Given the description of an element on the screen output the (x, y) to click on. 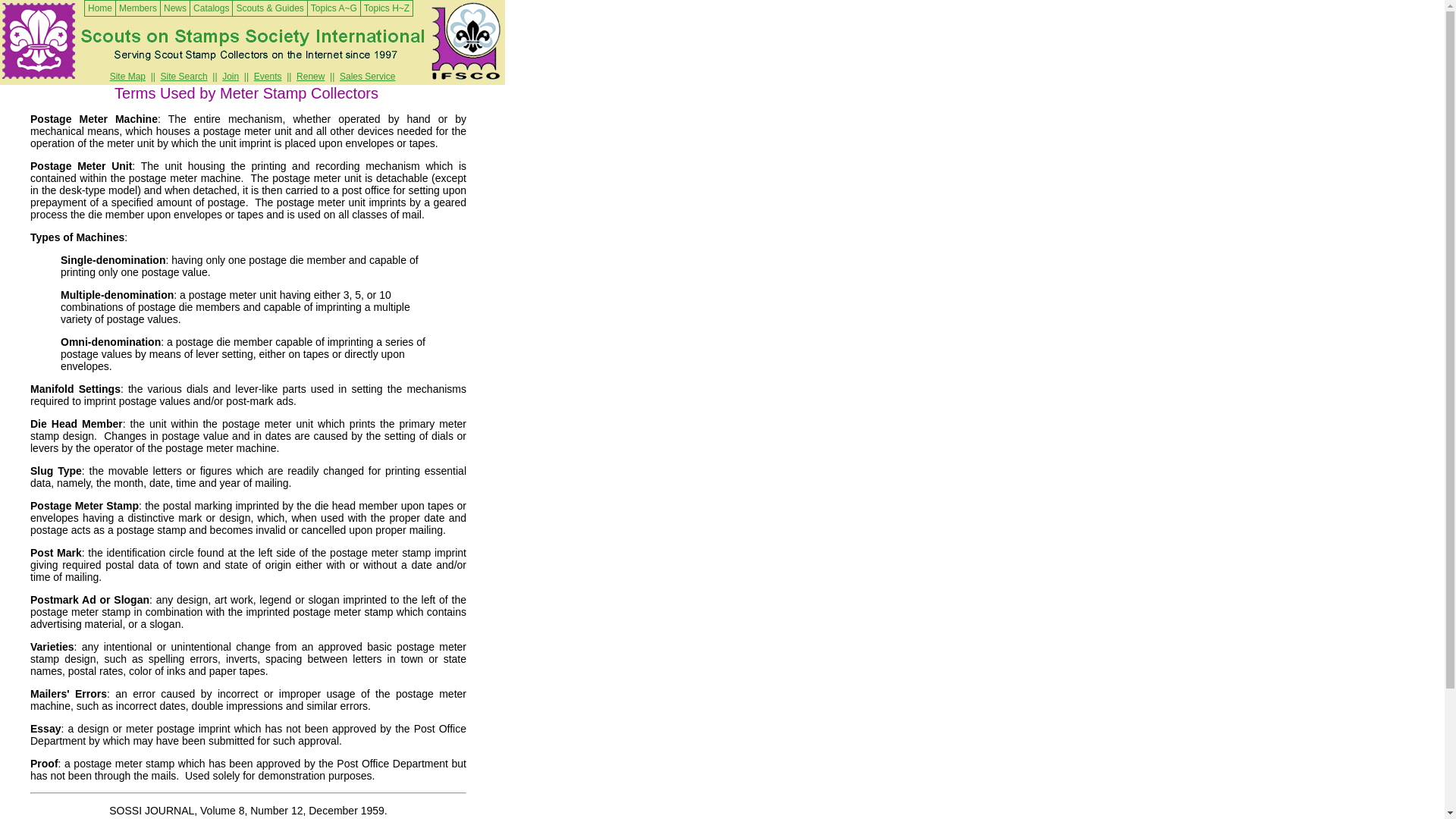
Home (100, 8)
Members (137, 8)
Catalogs (210, 8)
News (175, 8)
